Given the description of an element on the screen output the (x, y) to click on. 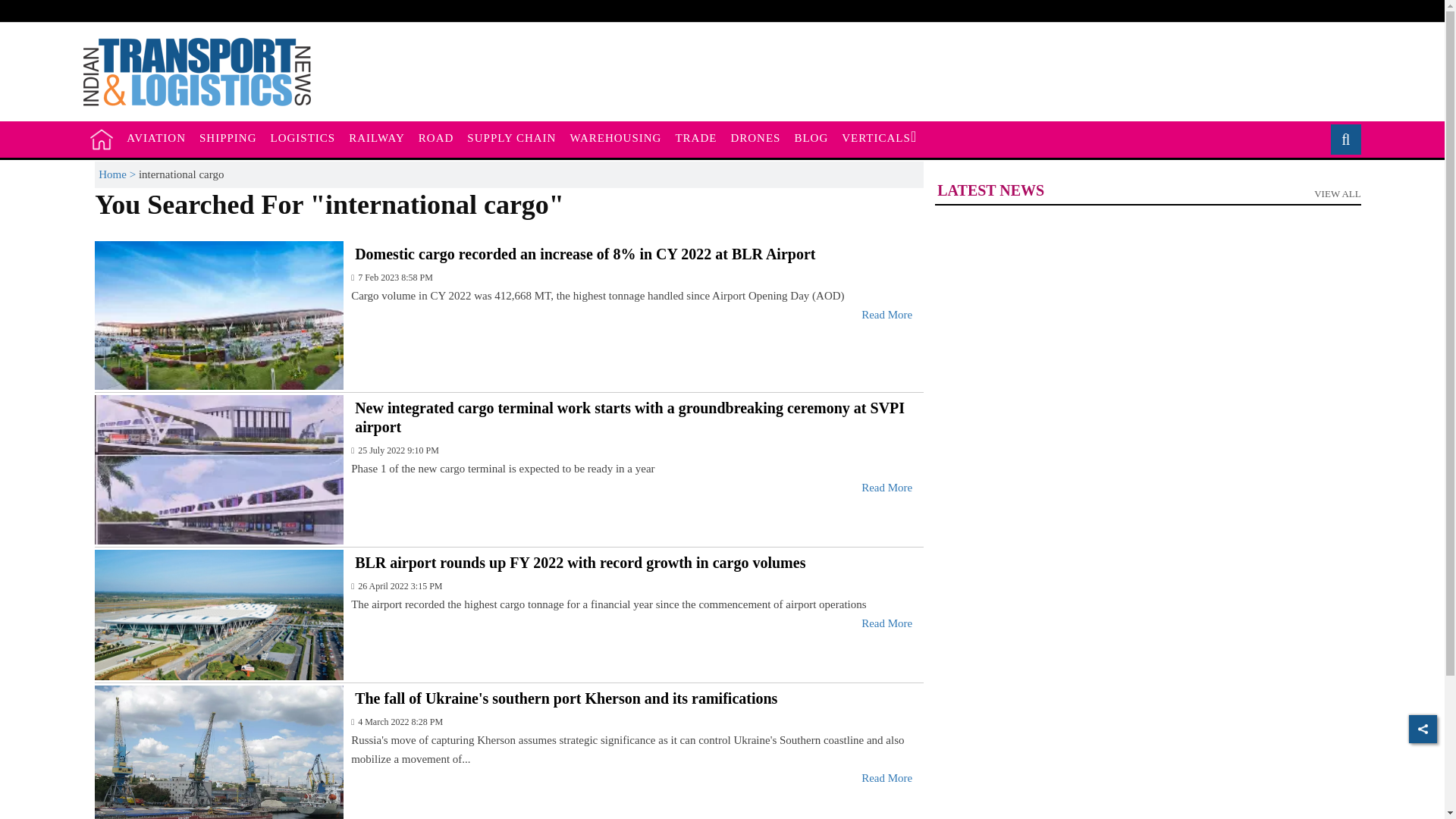
AVIATION (155, 138)
TRADE (695, 138)
SUPPLY CHAIN (1146, 194)
WAREHOUSING (511, 138)
DRONES (615, 138)
home (755, 138)
VERTICALS (101, 138)
RAILWAY (878, 138)
search here (377, 138)
ROAD (1340, 139)
LOGISTICS (436, 138)
